Given the description of an element on the screen output the (x, y) to click on. 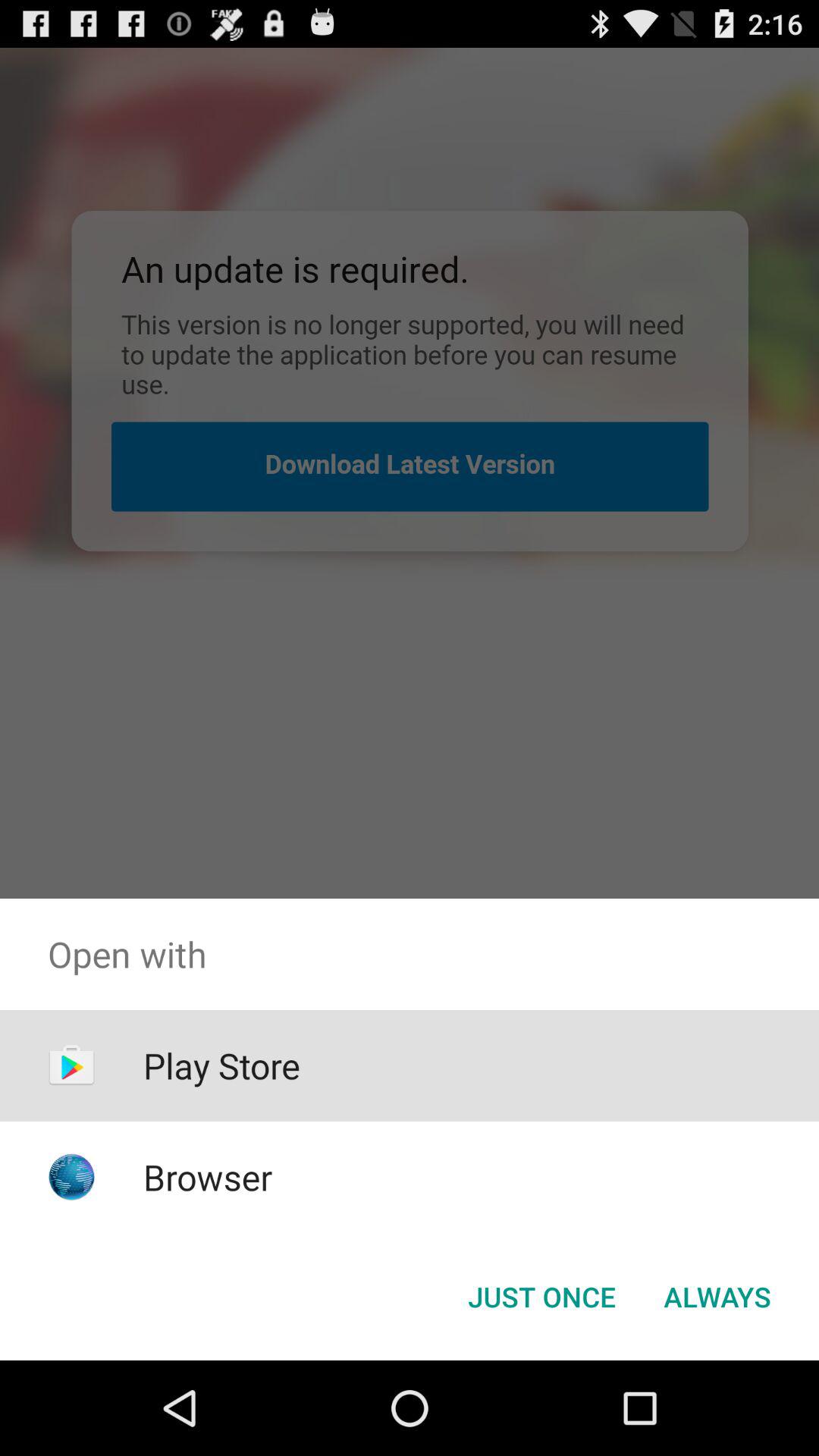
launch the item below open with item (221, 1065)
